Given the description of an element on the screen output the (x, y) to click on. 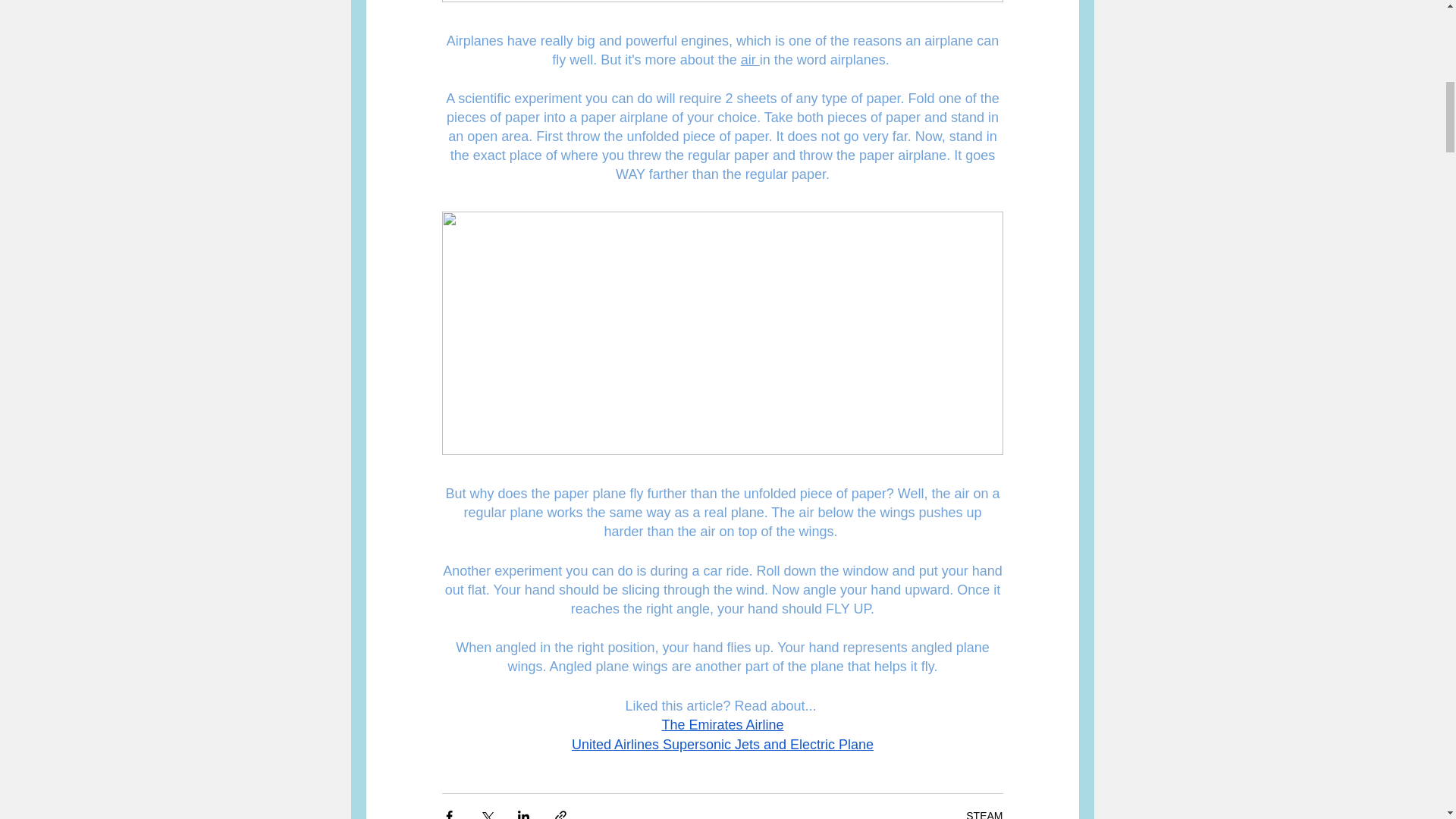
STEAM (984, 814)
The Emirates Airline (722, 724)
United Airlines Supersonic Jets and Electric Plane (721, 744)
